Given the description of an element on the screen output the (x, y) to click on. 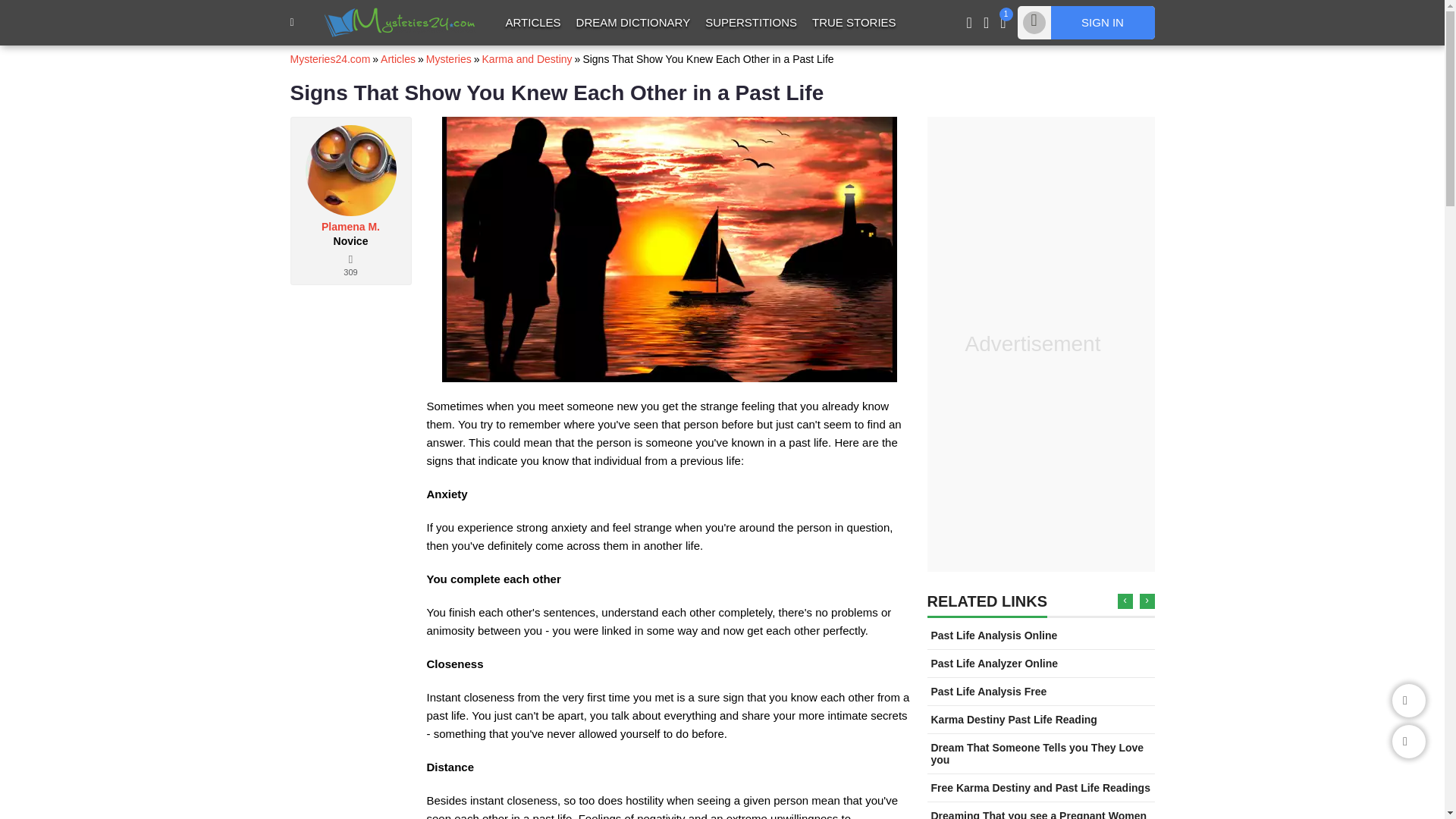
TRUE STORIES (854, 22)
Mysteries24.com (329, 59)
Articles (397, 59)
Past Life Analysis Free (988, 691)
Karma Destiny Past Life Reading (1014, 719)
Karma and Destiny (526, 59)
Past Life Analyzer Online (994, 663)
ARTICLES (532, 22)
Dreaming That you see a Pregnant Women (1039, 814)
Dream That Someone Tells you They Love you (1037, 753)
DREAM DICTIONARY (633, 22)
SUPERSTITIONS (751, 22)
mysteries24.com (400, 21)
Mysteries (448, 59)
Free Karma Destiny and Past Life Readings (1040, 787)
